Given the description of an element on the screen output the (x, y) to click on. 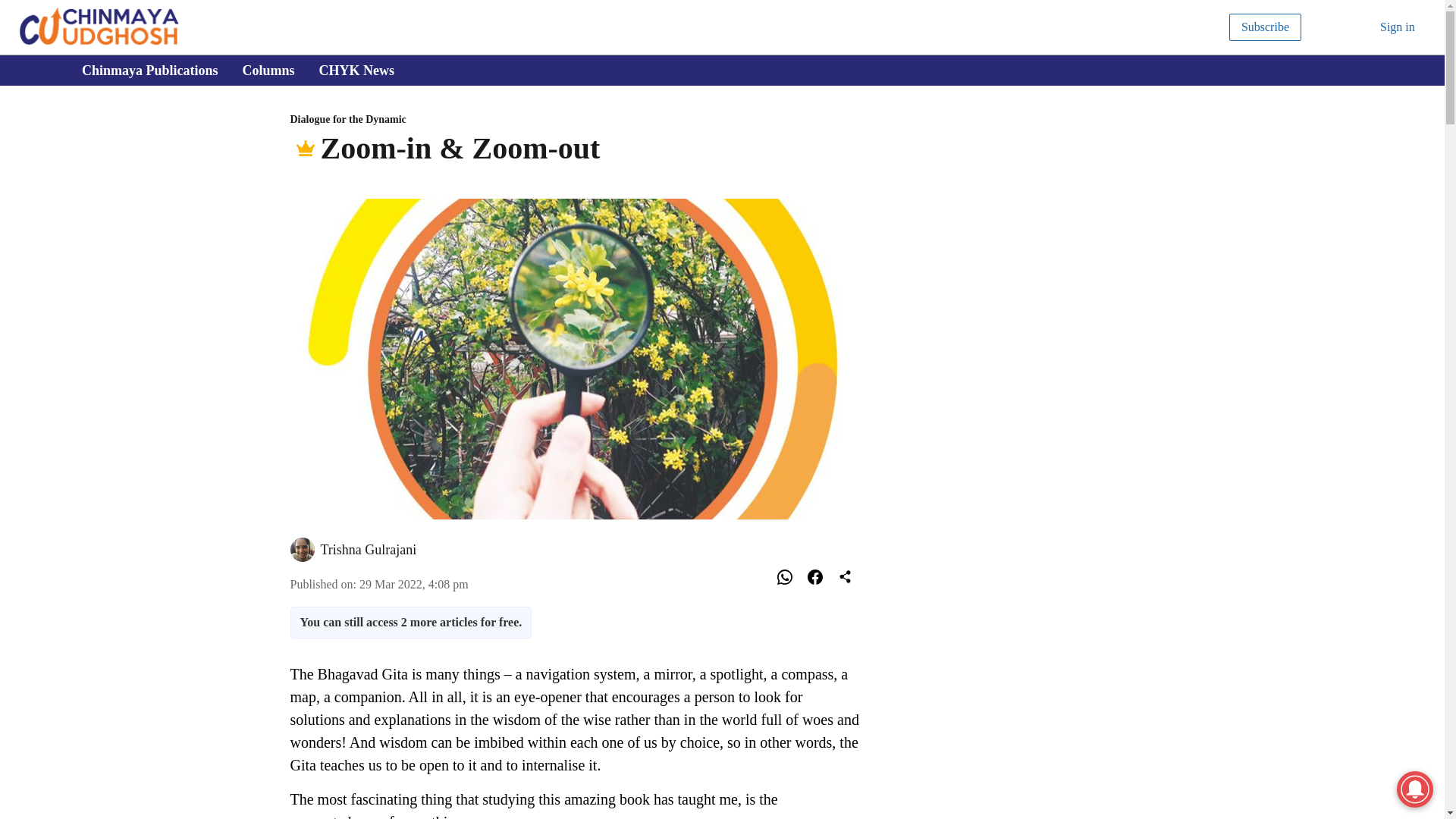
Dialogue for the Dynamic (574, 119)
Trishna Gulrajani (368, 549)
2022-03-29 08:08 (413, 584)
CHYK News (725, 70)
